Given the description of an element on the screen output the (x, y) to click on. 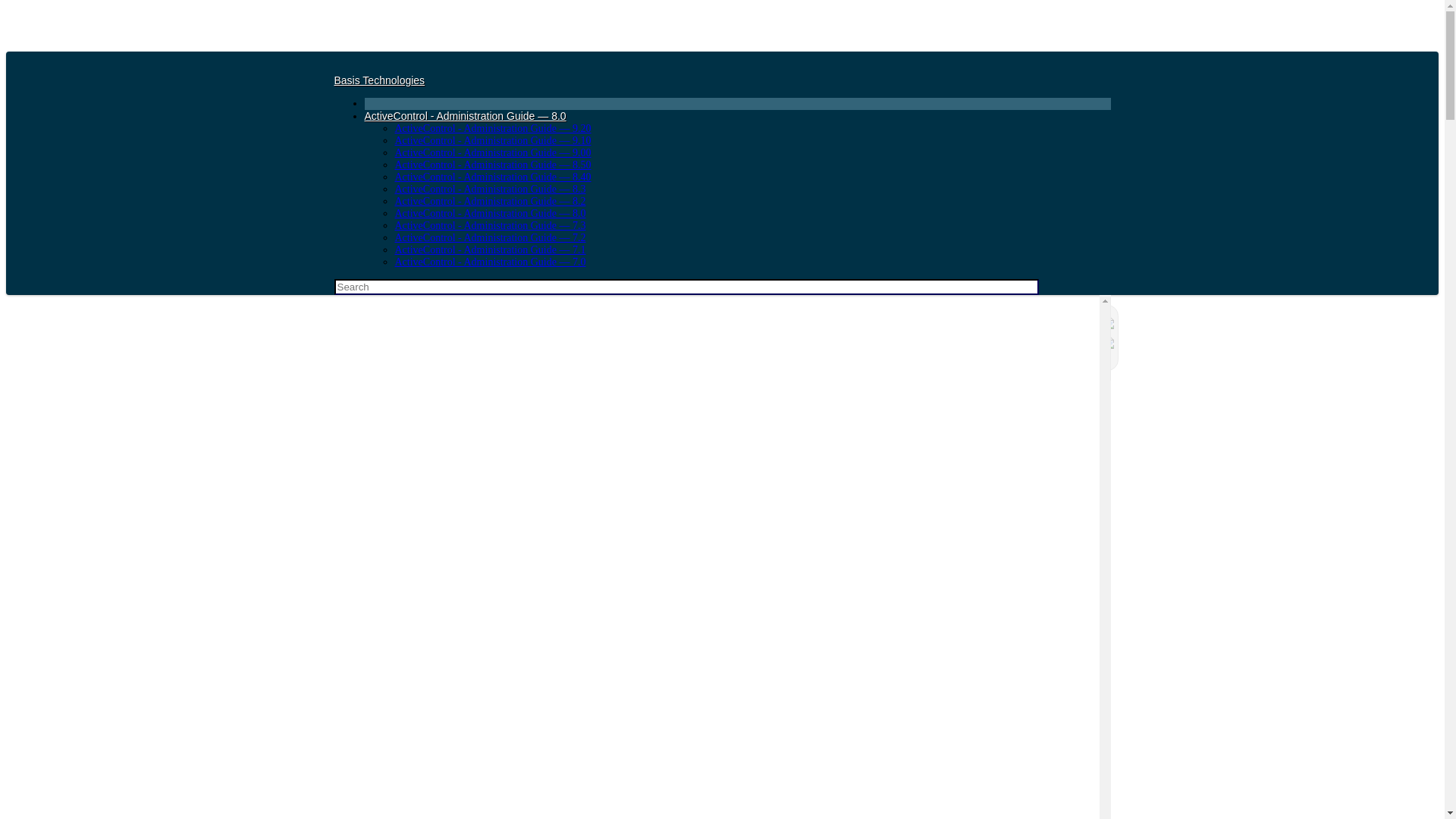
Key Concepts of ActiveControl (716, 361)
Accessing ActiveControl (761, 434)
Domain Controller (761, 398)
Satellite SAP Systems (761, 416)
Architecture of ActiveControl (739, 380)
Introduction (716, 327)
Basis Technologies (379, 80)
Integration Framework (761, 453)
